Given the description of an element on the screen output the (x, y) to click on. 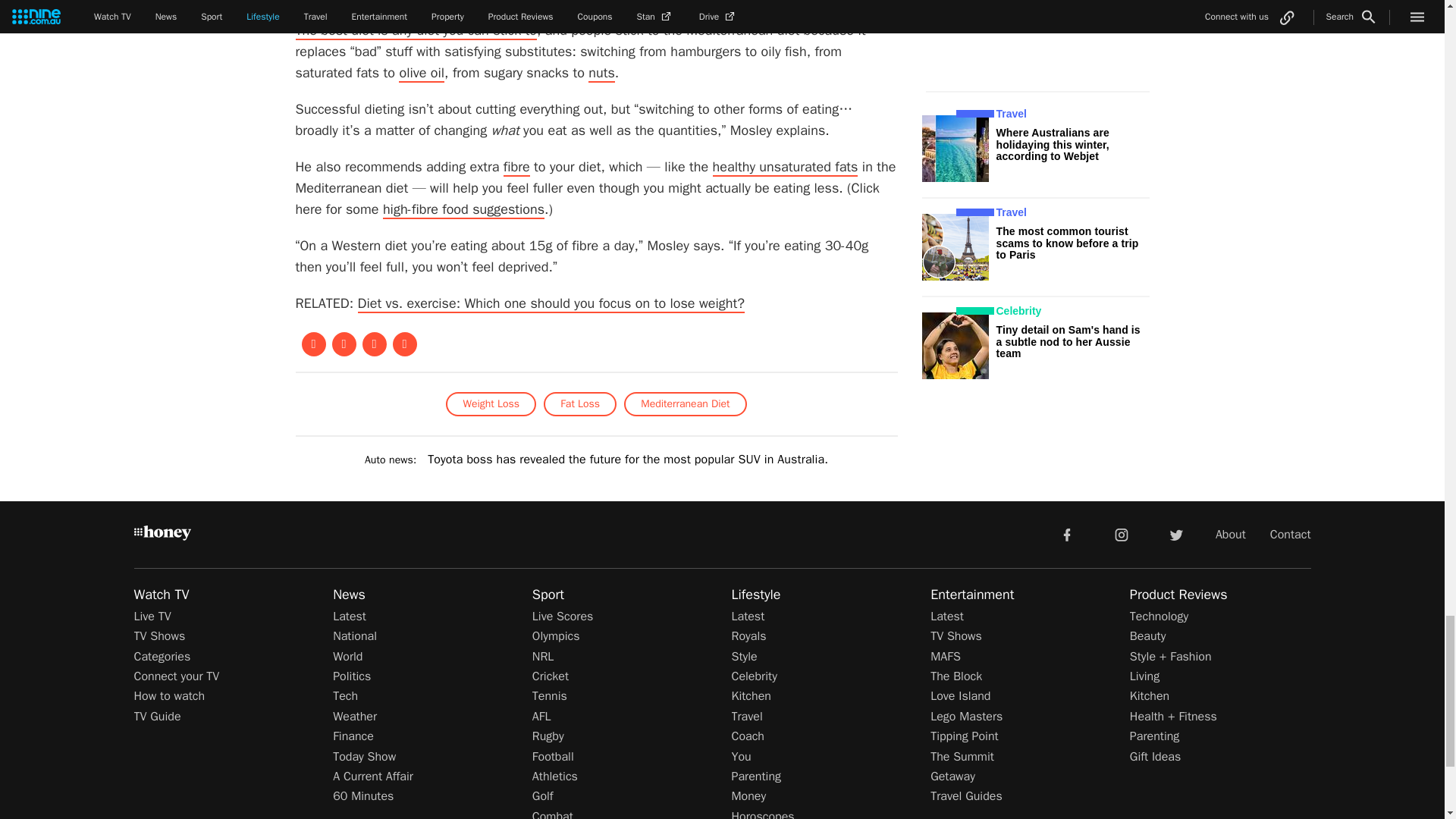
facebook (1066, 533)
instagram (1121, 533)
twitter (1175, 533)
